Given the description of an element on the screen output the (x, y) to click on. 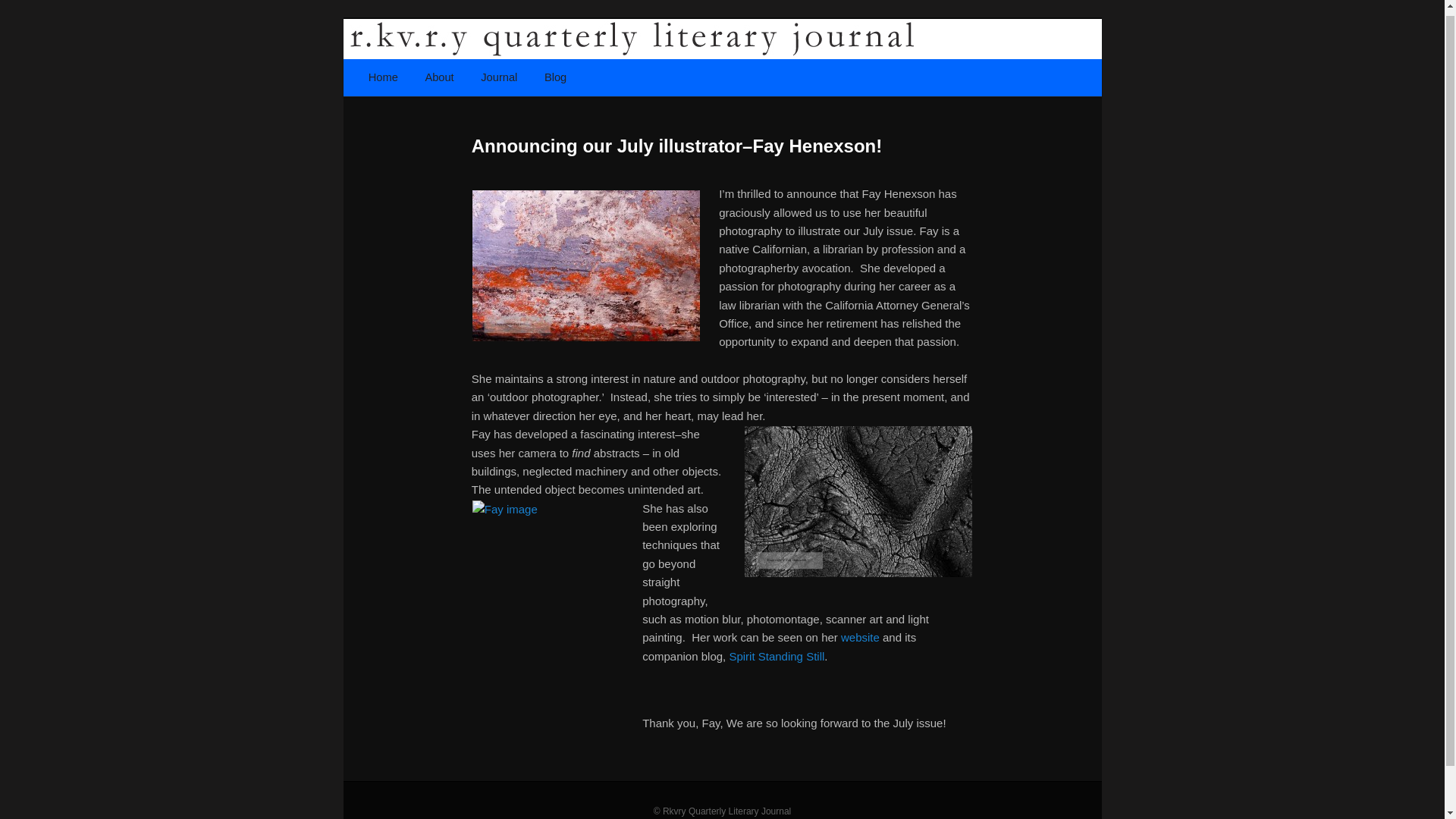
About (439, 77)
Search (24, 6)
Blog (555, 77)
Rkvry Quarterly Literary Journal (574, 135)
Skip to primary content (432, 77)
Home (383, 77)
Spirit Standing Still (776, 656)
website (860, 636)
Journal (499, 77)
